Given the description of an element on the screen output the (x, y) to click on. 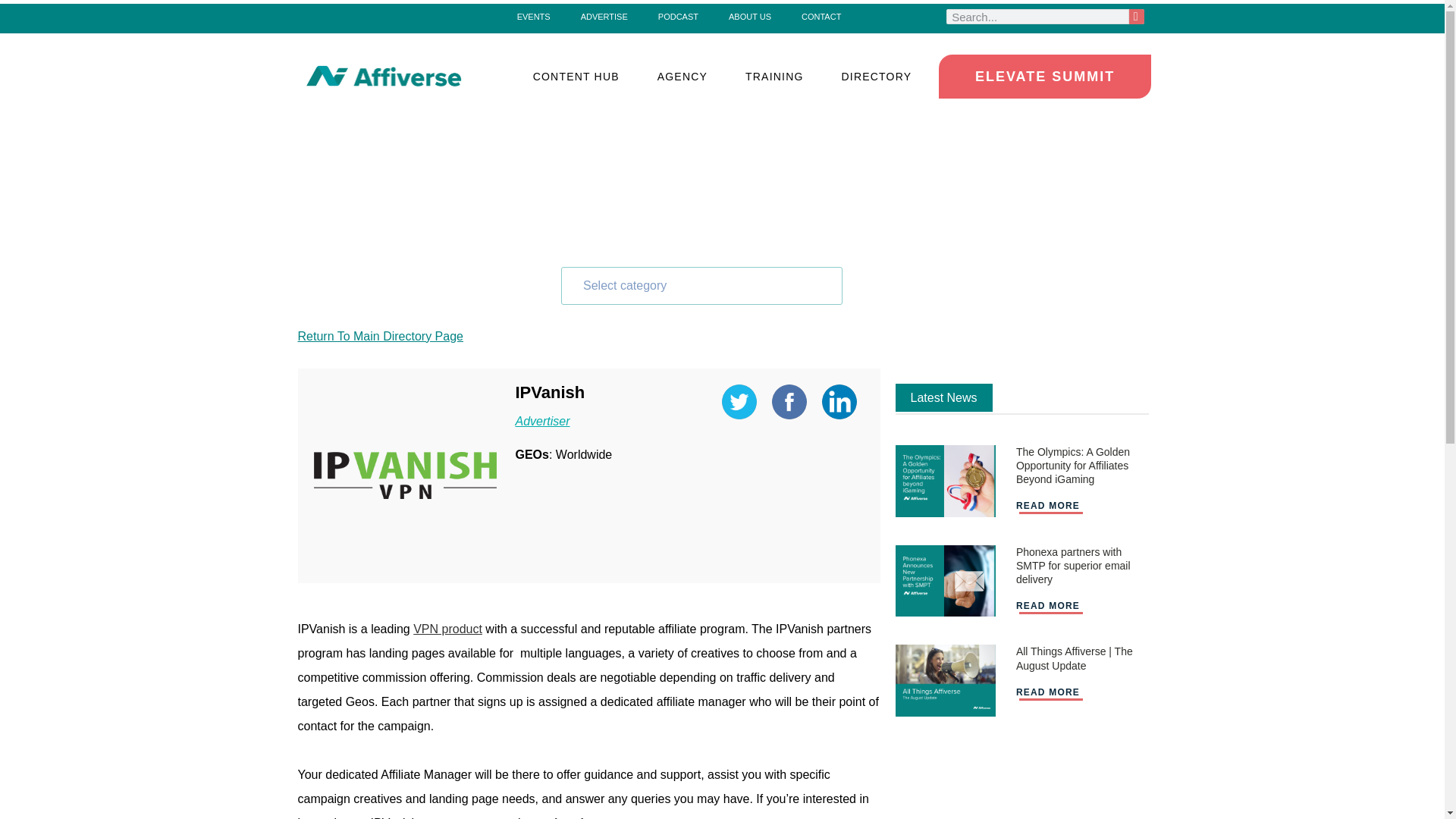
CONTENT HUB (576, 76)
AGENCY (682, 76)
ADVERTISE (604, 16)
DIRECTORY (876, 76)
PODCAST (678, 16)
ELEVATE SUMMIT (1045, 76)
TRAINING (774, 76)
ABOUT US (749, 16)
CONTACT (821, 16)
EVENTS (534, 16)
